Given the description of an element on the screen output the (x, y) to click on. 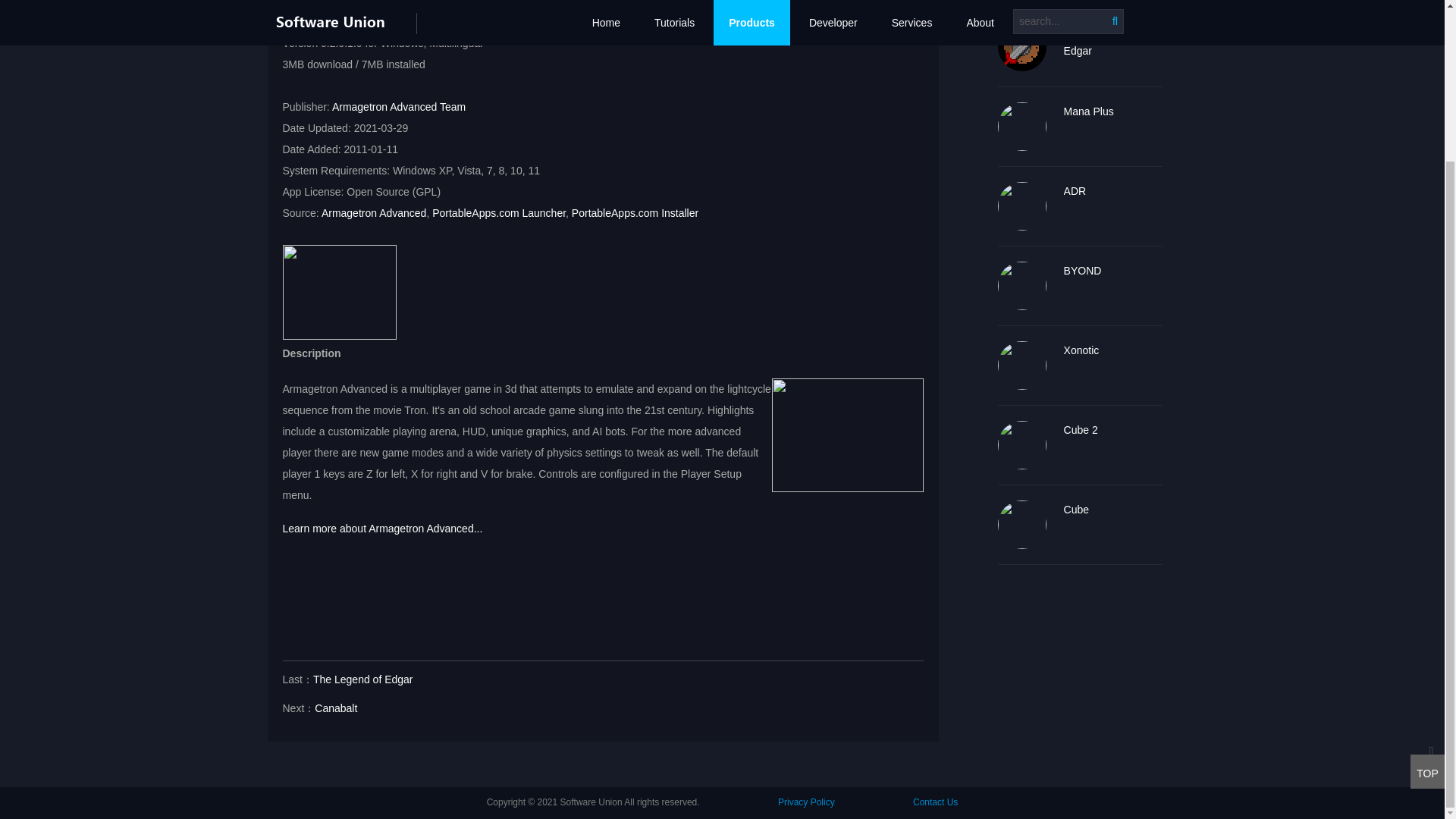
Contact Us (935, 801)
The Legend of Edgar (363, 679)
BYOND (1112, 270)
PortableApps.com Installer (635, 213)
Armagetron Advanced Team (398, 106)
PortableApps.com Launcher (499, 213)
ADR (1112, 190)
Privacy Policy (805, 801)
Armagetron Advanced (373, 213)
The Legend of Edgar (1112, 41)
